Given the description of an element on the screen output the (x, y) to click on. 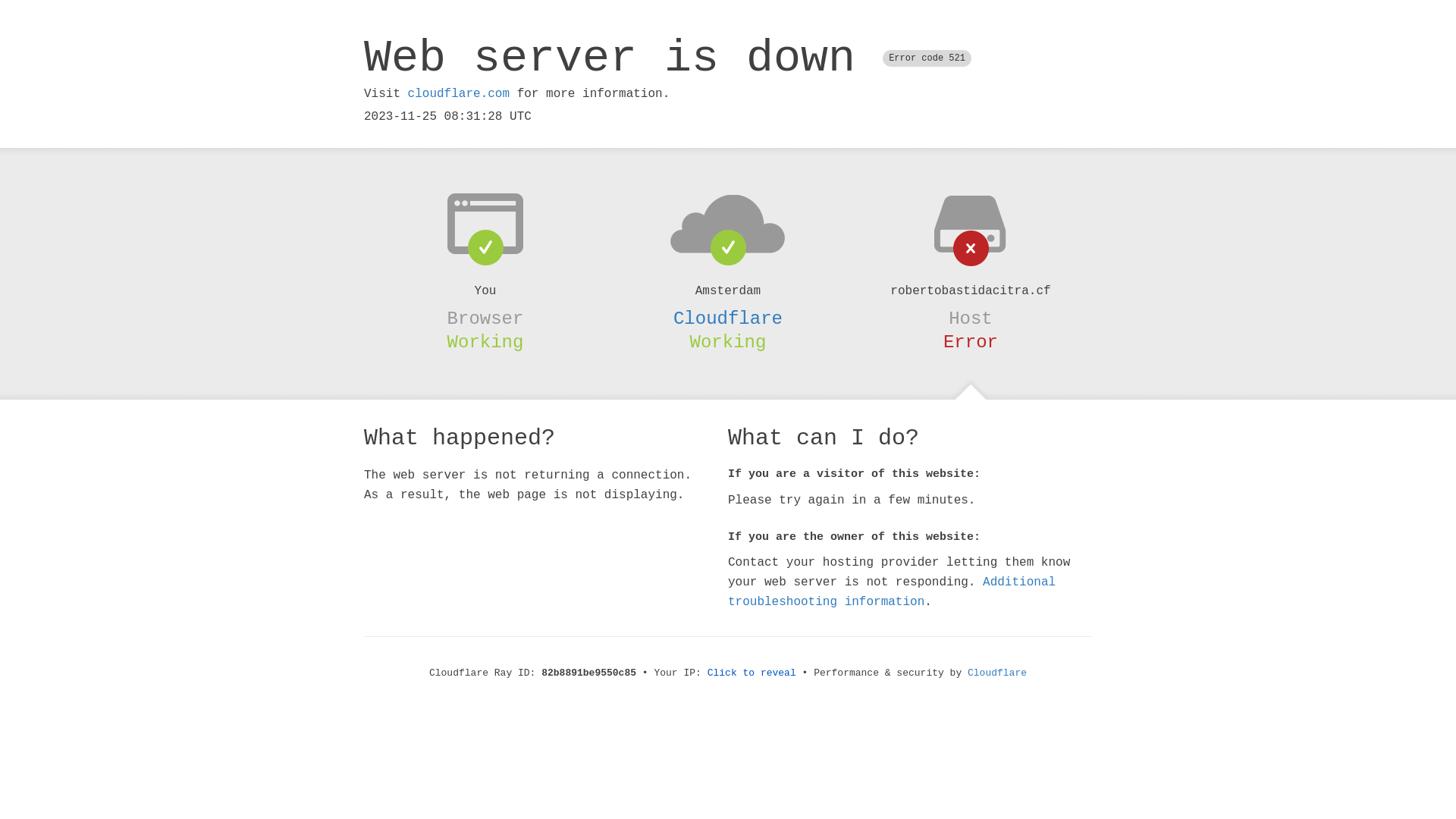
Cloudflare Element type: text (727, 318)
cloudflare.com Element type: text (458, 93)
Additional troubleshooting information Element type: text (891, 591)
Click to reveal Element type: text (751, 672)
Cloudflare Element type: text (996, 672)
